Given the description of an element on the screen output the (x, y) to click on. 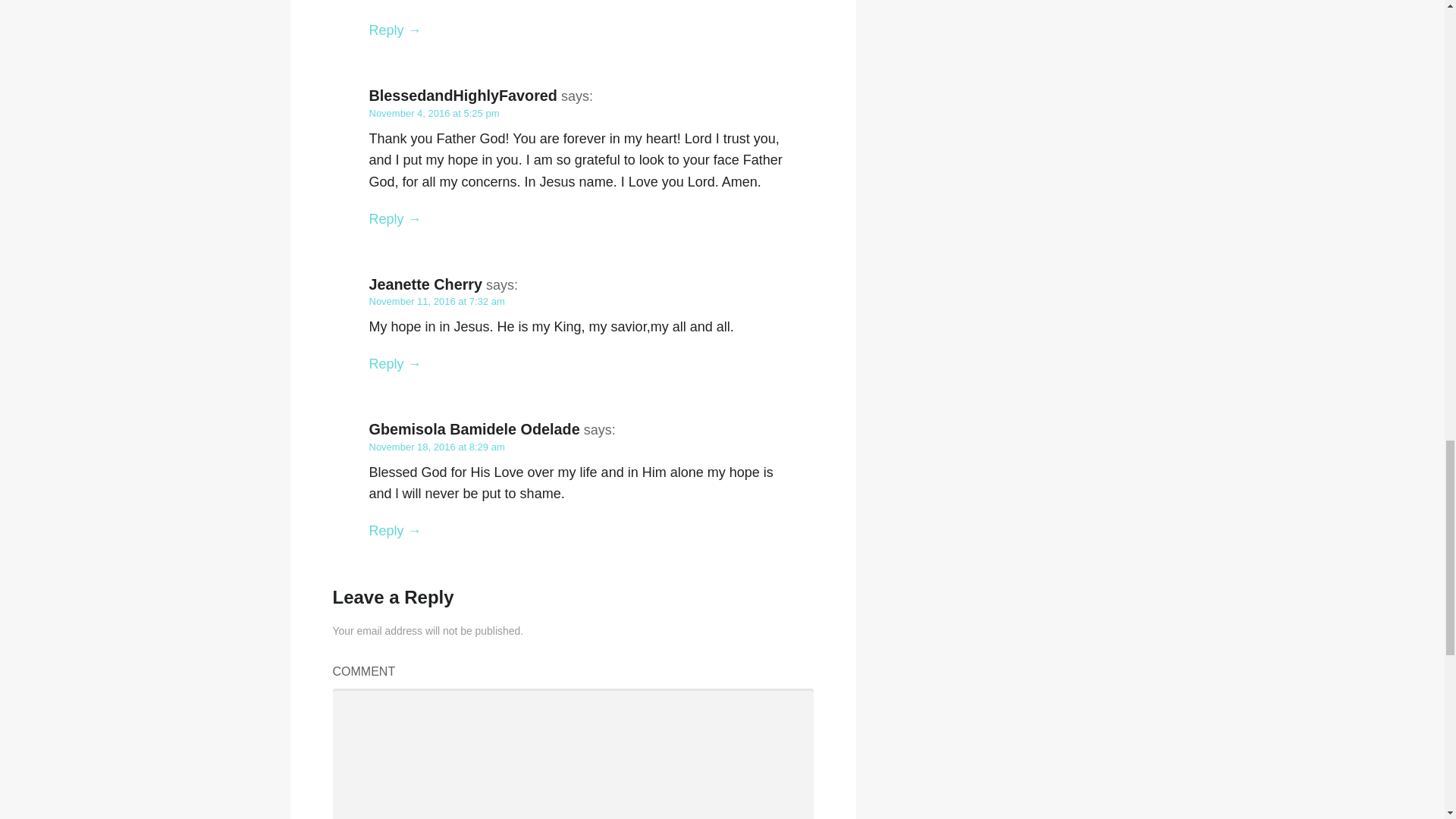
November 18, 2016 at 8:29 am (435, 446)
Reply (394, 29)
Reply (394, 530)
Reply (394, 218)
November 11, 2016 at 7:32 am (435, 301)
November 4, 2016 at 5:25 pm (433, 112)
Reply (394, 363)
